Given the description of an element on the screen output the (x, y) to click on. 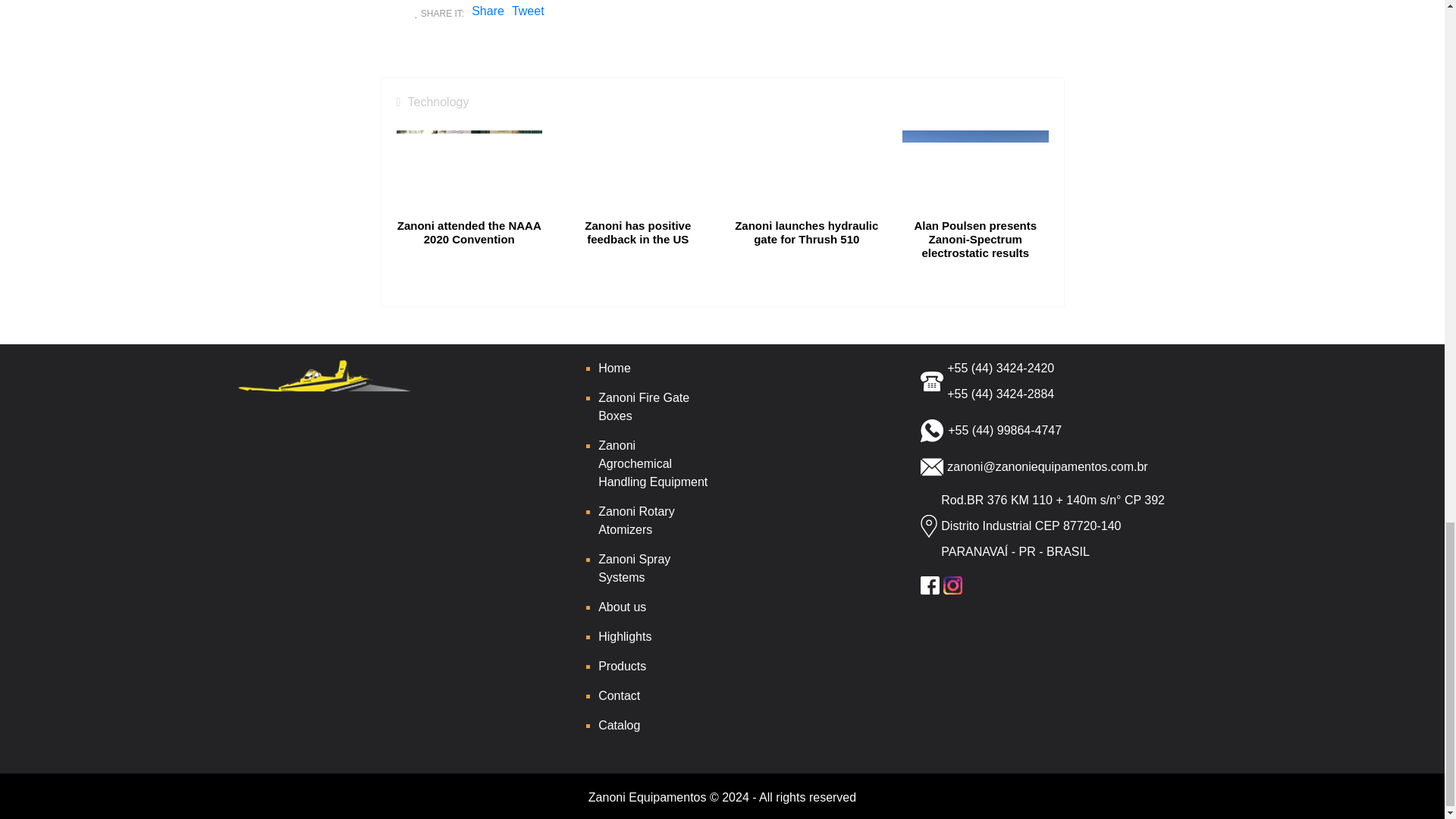
Share (487, 10)
Home (614, 367)
Alan Poulsen presents Zanoni-Spectrum electrostatic results (975, 200)
Tweet (528, 13)
Zanoni launches hydraulic gate for Thrush 510 (806, 200)
Zanoni Fire Gate Boxes (643, 406)
Zanoni has positive feedback in the US (637, 200)
Zanoni attended the NAAA 2020 Convention (468, 200)
